Given the description of an element on the screen output the (x, y) to click on. 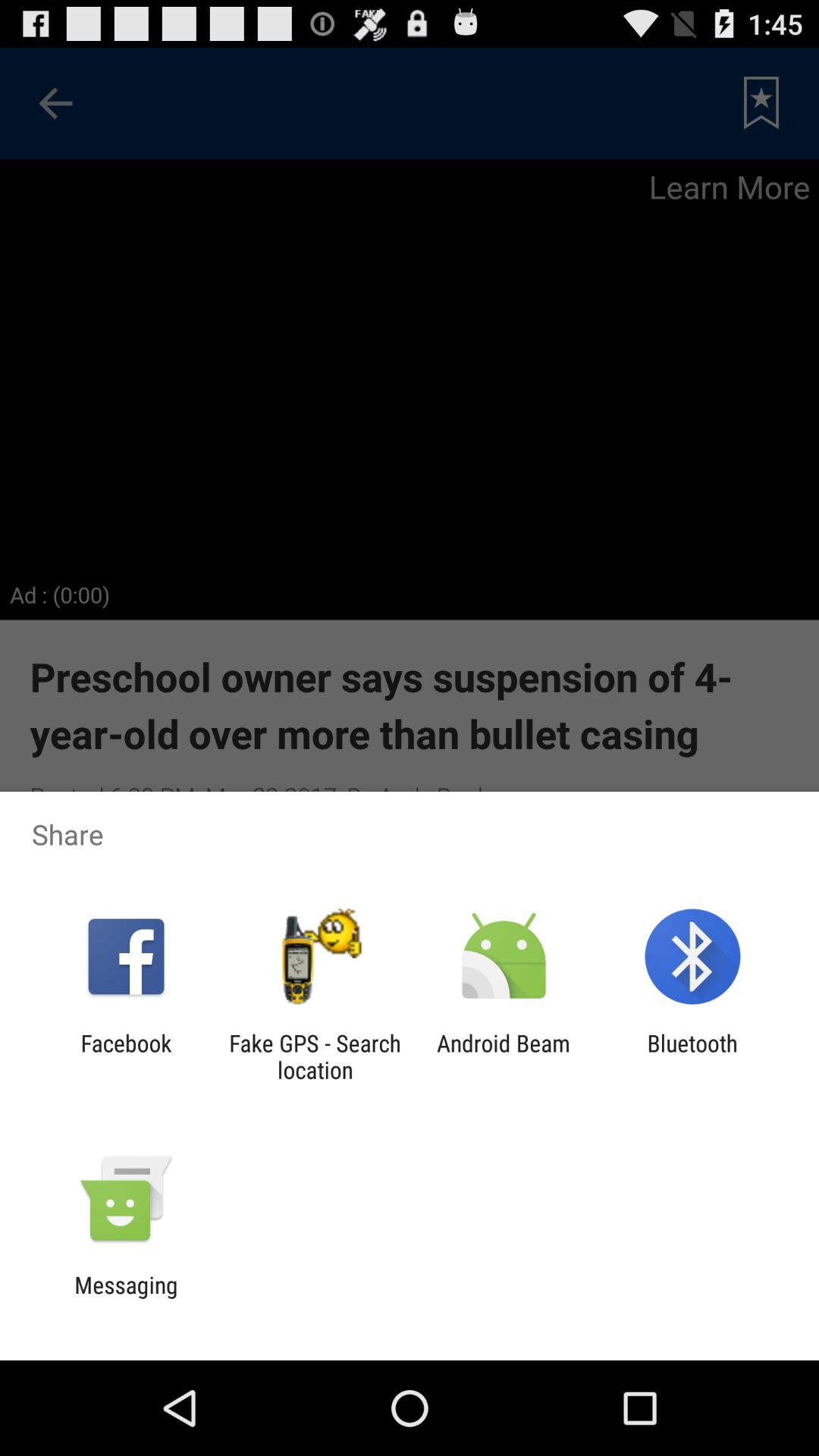
click app next to the fake gps search item (503, 1056)
